Given the description of an element on the screen output the (x, y) to click on. 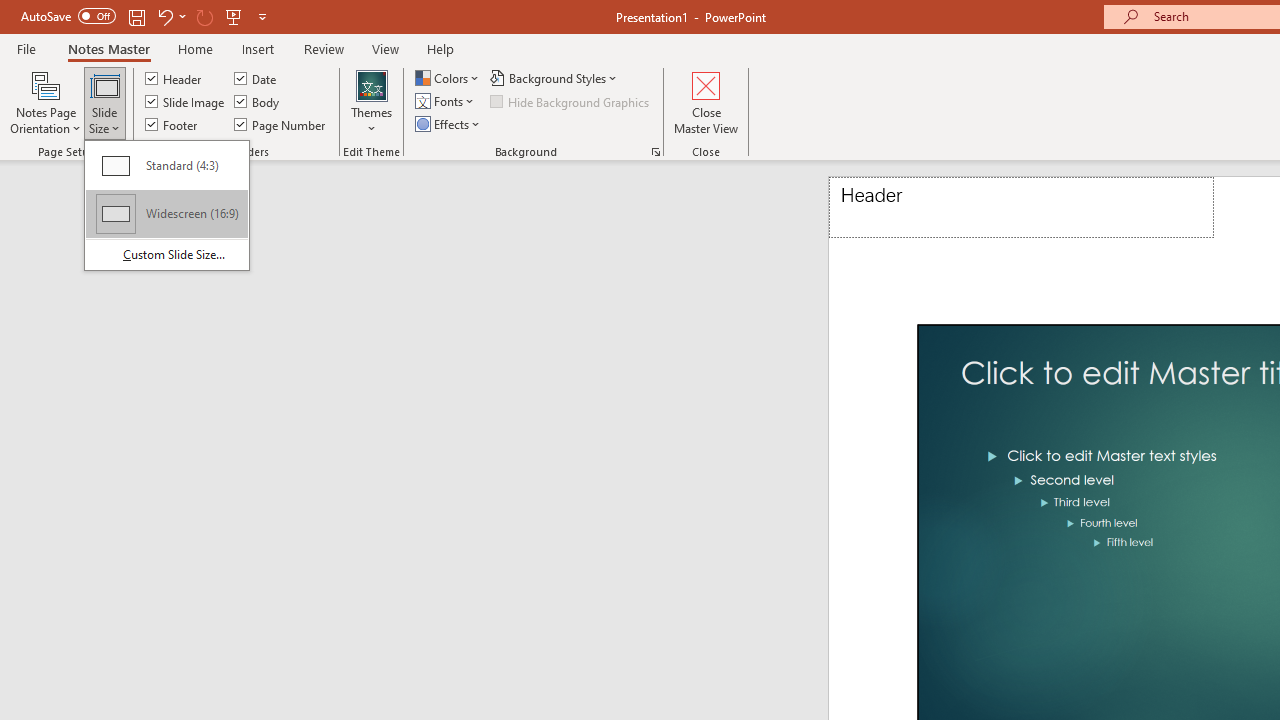
Body (257, 101)
Notes Page Orientation (45, 102)
Page Number (280, 124)
Hide Background Graphics (570, 101)
Format Background... (655, 151)
Header (174, 78)
Themes (372, 102)
Background Styles (555, 78)
Close Master View (706, 102)
